Given the description of an element on the screen output the (x, y) to click on. 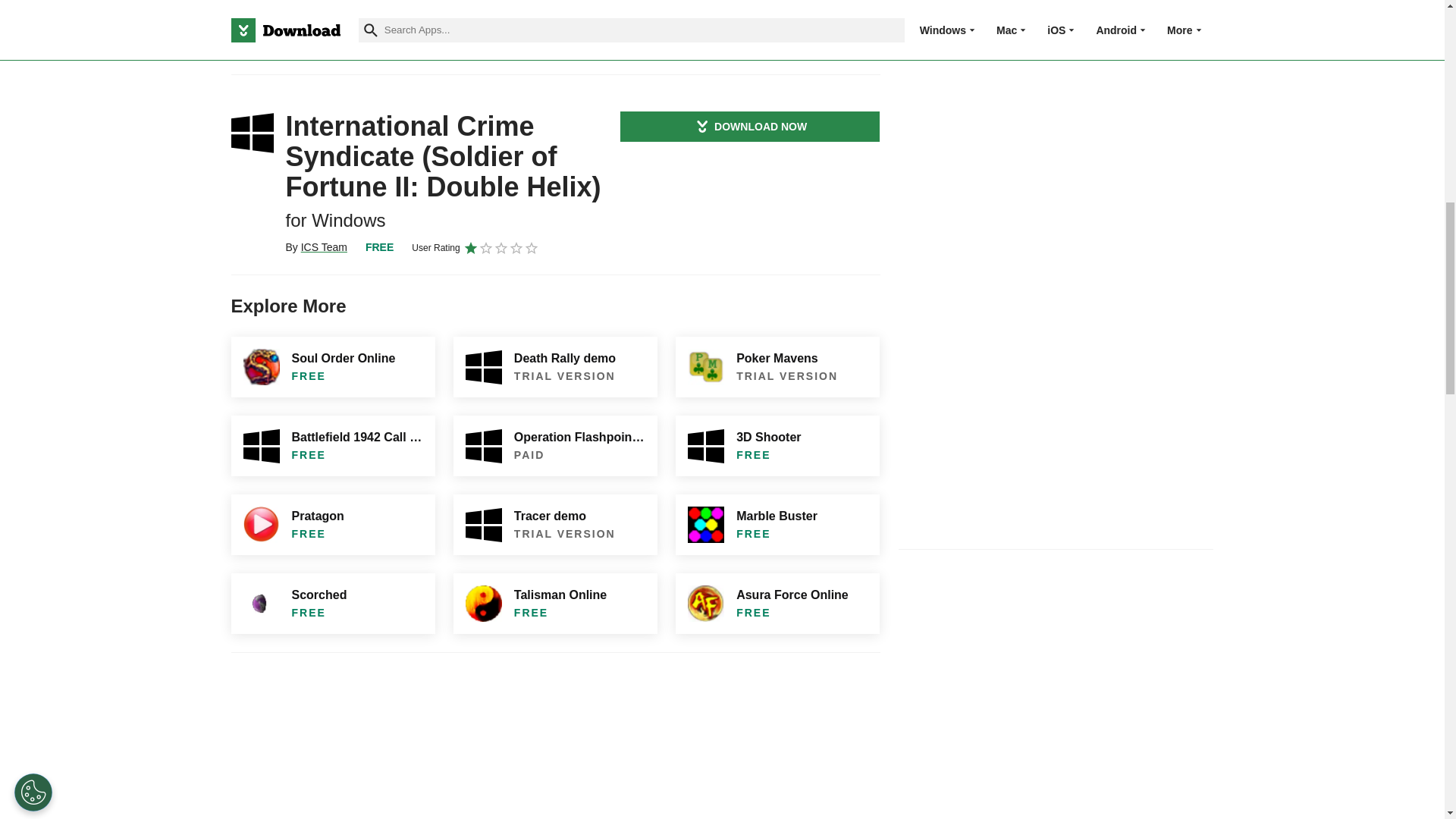
Operation Flashpoint: Red River (555, 445)
Soul Order Online (331, 366)
Battlefield 1942 Call To Arms v0.31 Alpha Mod (331, 445)
Pratagon (331, 524)
Scorched (331, 603)
Tracer demo (555, 524)
Death Rally demo (555, 366)
Marble Buster (777, 524)
3D Shooter (777, 445)
Talisman Online (555, 603)
Asura Force Online (777, 603)
Poker Mavens (777, 366)
